Given the description of an element on the screen output the (x, y) to click on. 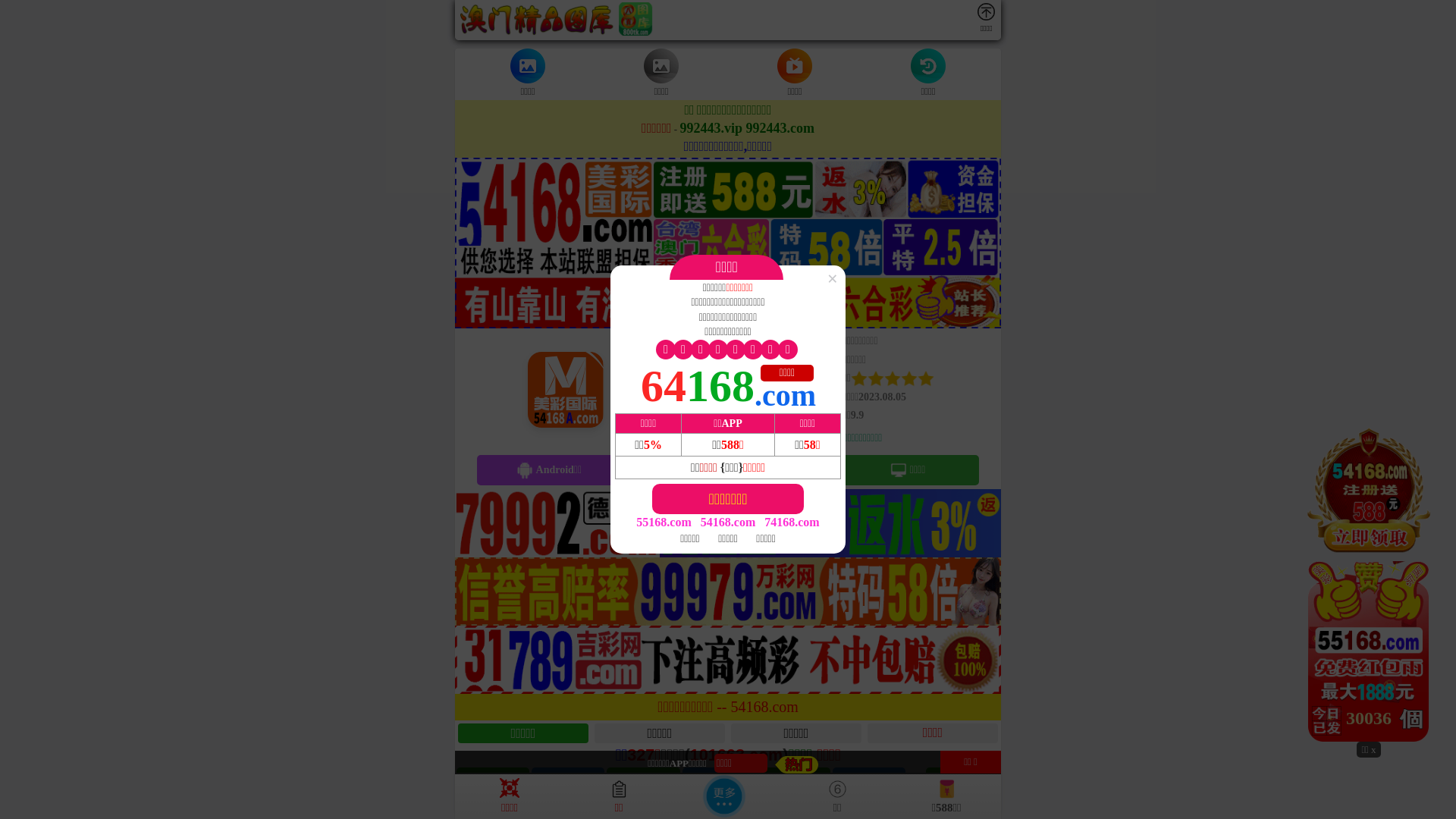
29764 Element type: text (1368, 582)
